Given the description of an element on the screen output the (x, y) to click on. 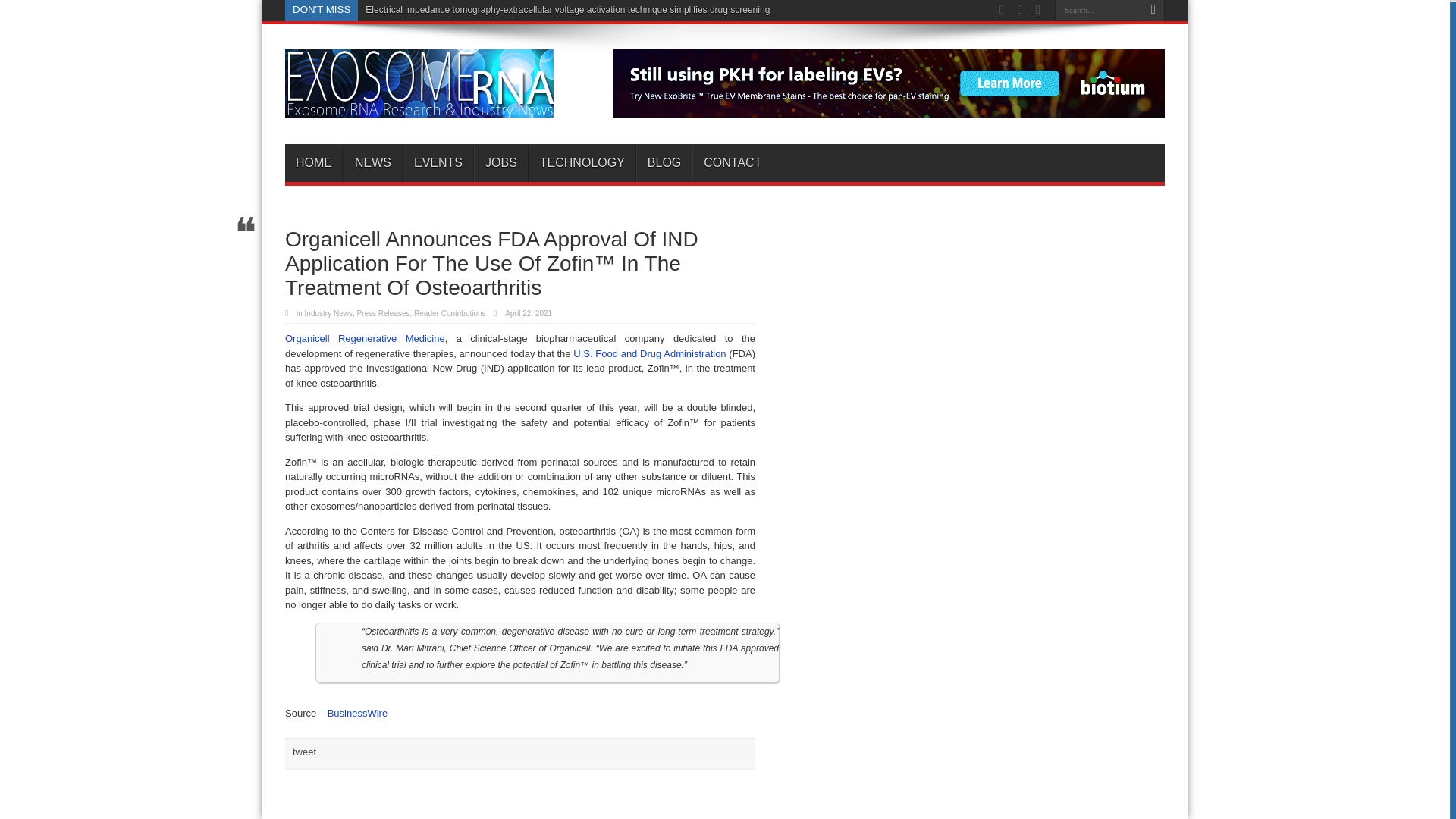
NEWS (372, 162)
Search... (1097, 10)
HOME (313, 162)
CONTACT (732, 162)
Search (1152, 10)
EVENTS (438, 162)
JOBS (500, 162)
BLOG (663, 162)
TECHNOLOGY (581, 162)
